Given the description of an element on the screen output the (x, y) to click on. 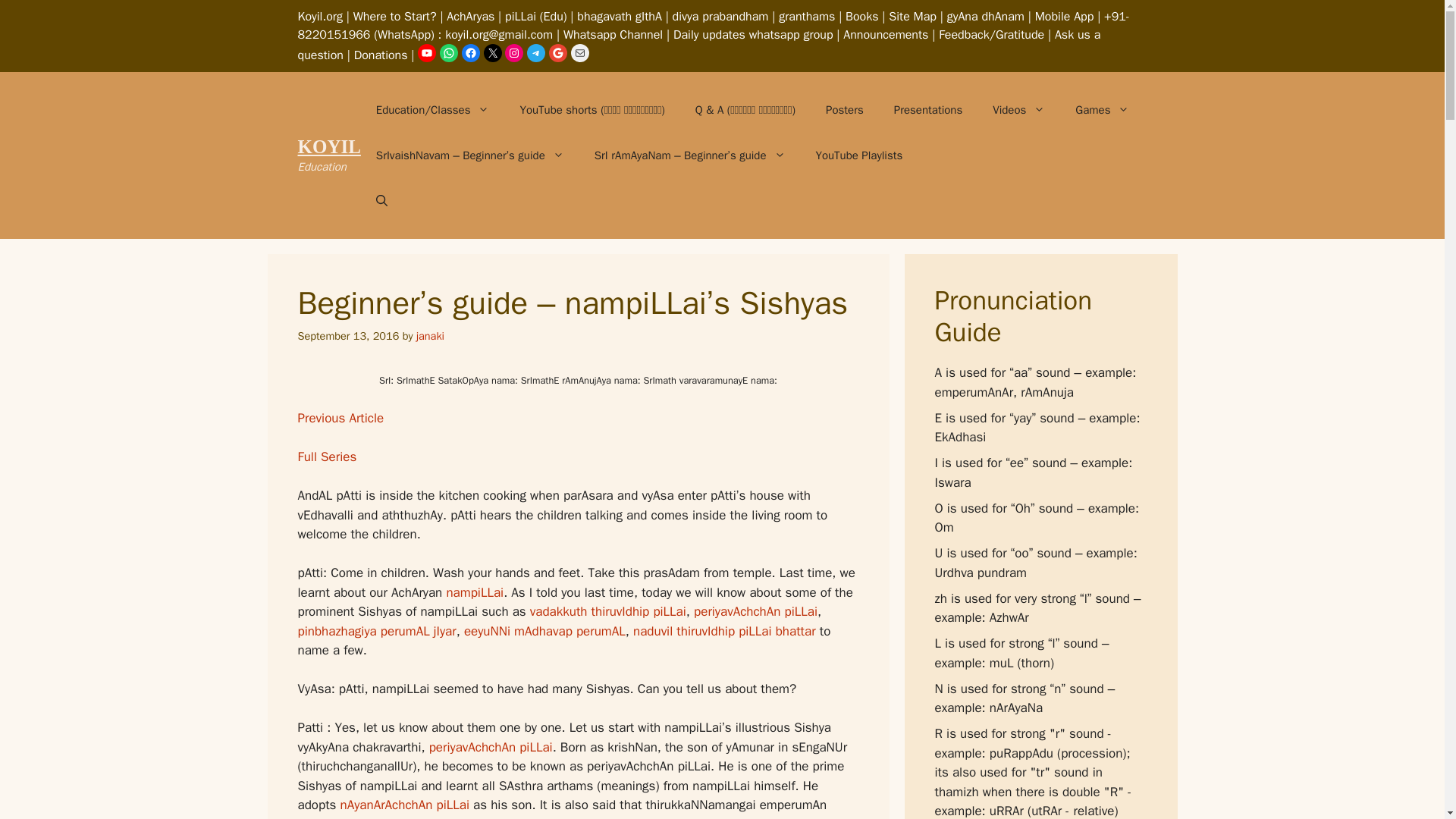
Koyil.org (319, 16)
View all posts by janaki (430, 336)
Mail (579, 53)
granthams (806, 16)
Facebook (470, 53)
Mobile App (1064, 16)
Daily updates whatsapp group (752, 34)
YouTube (426, 53)
Site Map (912, 16)
Instagram (513, 53)
Telegram (535, 53)
Google (557, 53)
WhatsApp (448, 53)
bhagavath gIthA (619, 16)
Donations (380, 55)
